Given the description of an element on the screen output the (x, y) to click on. 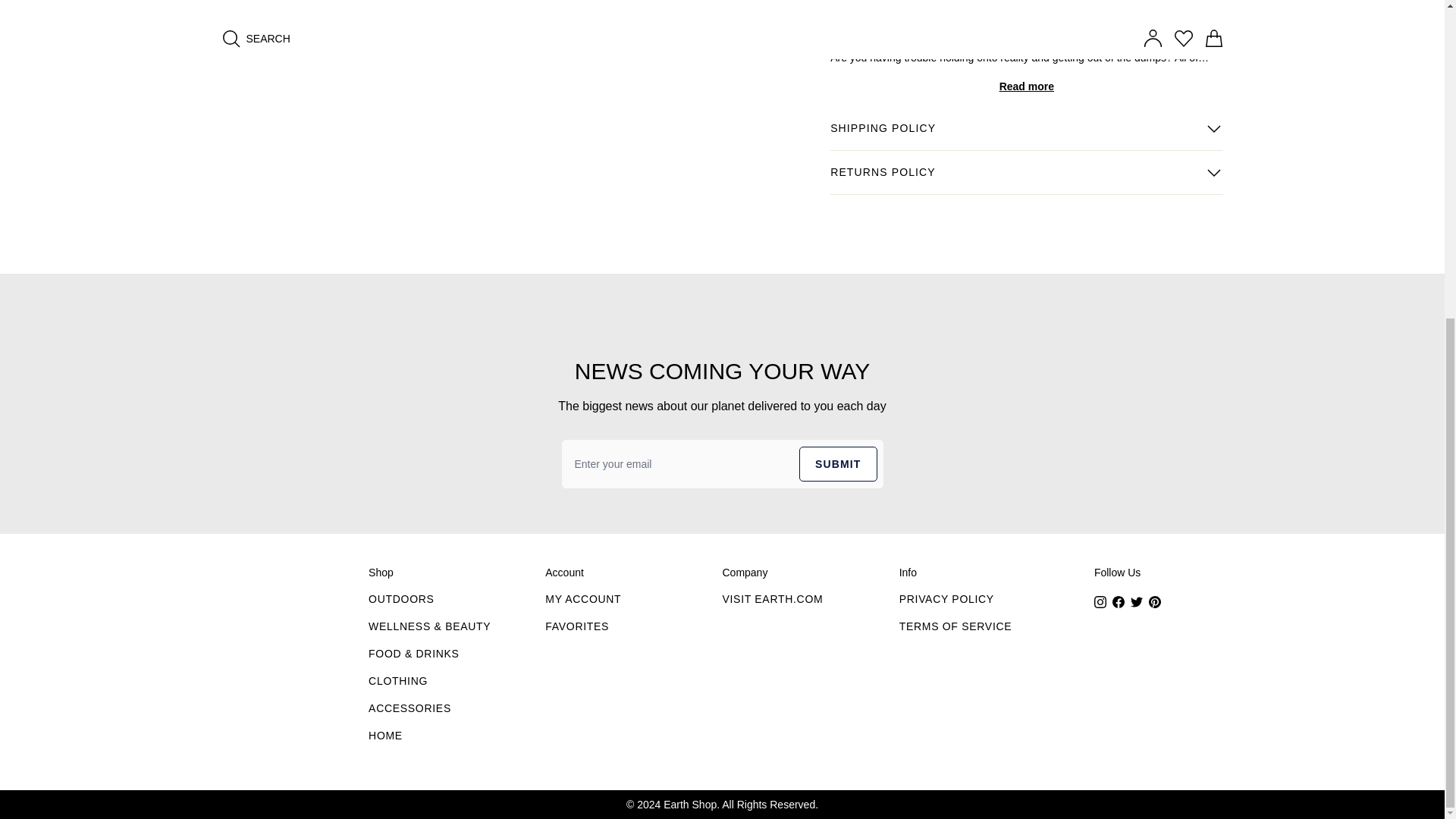
Read more (1026, 86)
RETURNS POLICY (1026, 172)
SHIPPING POLICY (1026, 128)
